Given the description of an element on the screen output the (x, y) to click on. 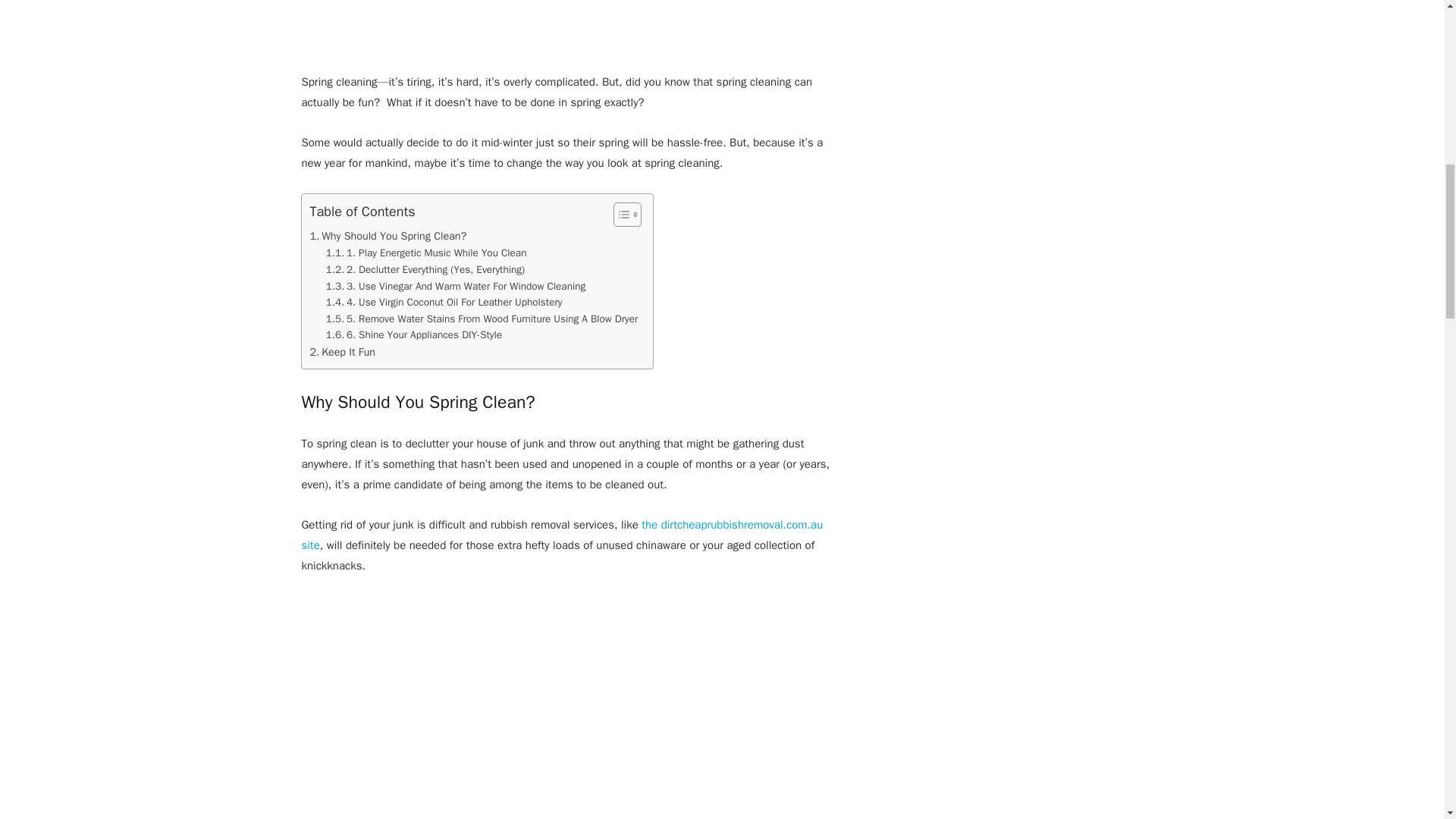
Keep It Fun (341, 352)
6. Shine Your Appliances DIY-Style (414, 334)
1. Play Energetic Music While You Clean (426, 252)
Why Should You Spring Clean? (386, 235)
3. Use Vinegar And Warm Water For Window Cleaning (455, 285)
4. Use Virgin Coconut Oil For Leather Upholstery (444, 302)
